Given the description of an element on the screen output the (x, y) to click on. 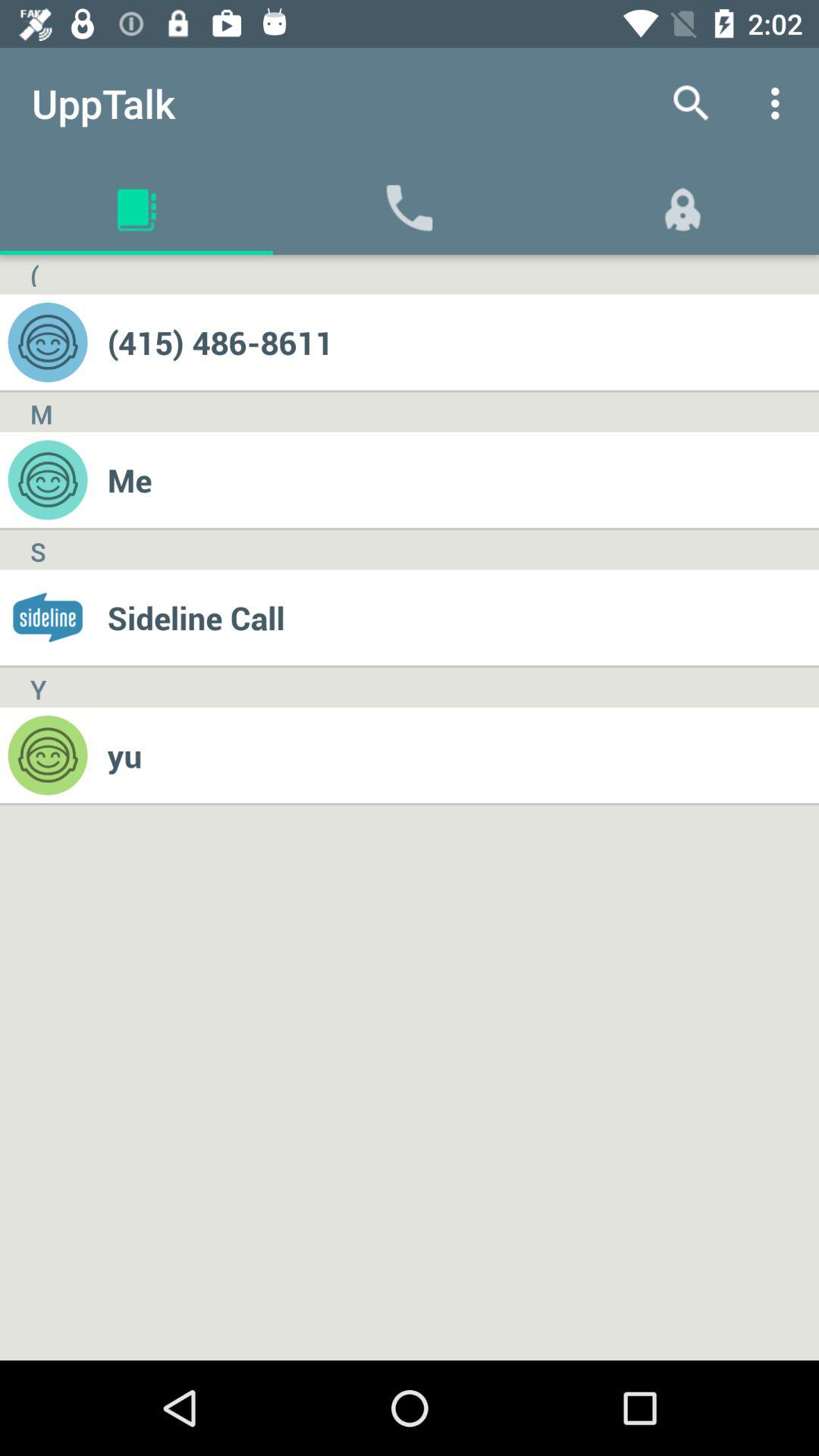
turn on the app below upptalk (34, 274)
